Given the description of an element on the screen output the (x, y) to click on. 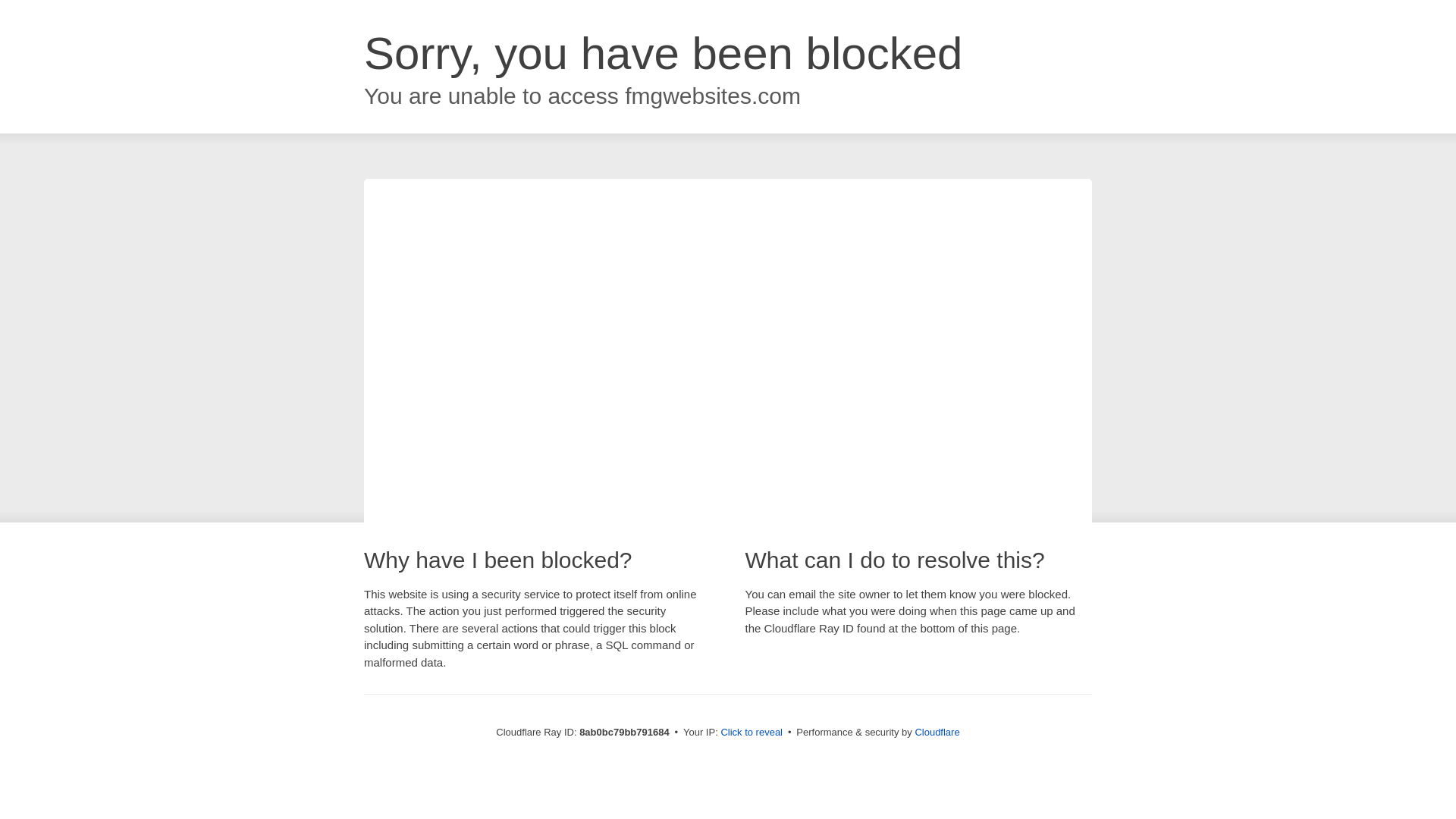
Cloudflare (936, 731)
Click to reveal (751, 732)
